Given the description of an element on the screen output the (x, y) to click on. 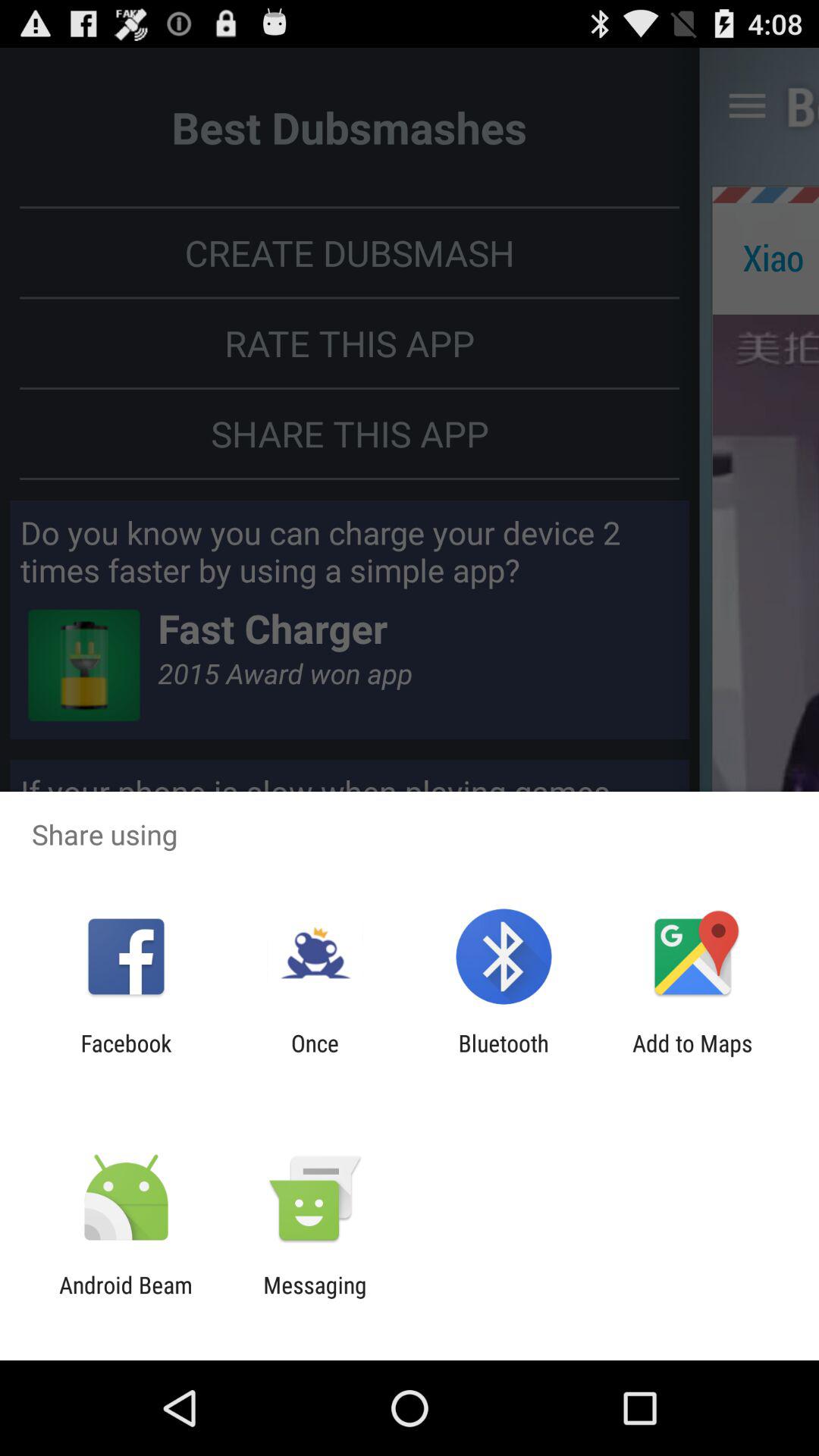
press app next to the once app (503, 1056)
